Given the description of an element on the screen output the (x, y) to click on. 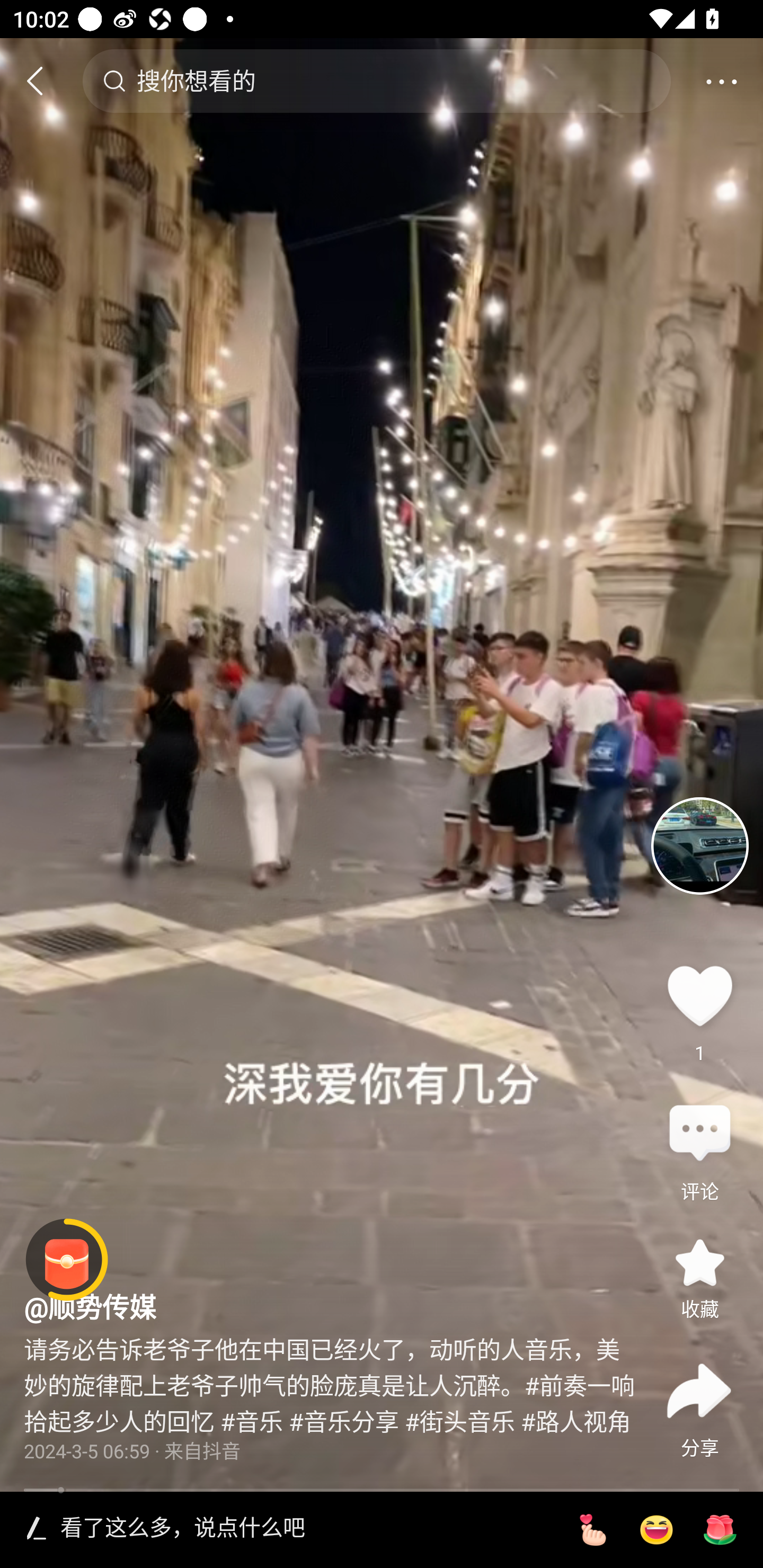
搜你想看的 搜索框，搜你想看的 (376, 80)
返回 (43, 80)
更多操作 (720, 80)
头像 (699, 845)
点赞1 1 (699, 995)
评论 评论 评论 (699, 1134)
收藏 (699, 1262)
阅读赚金币 (66, 1259)
分享 (699, 1390)
看了这么多，说点什么吧 (305, 1529)
[比心] (592, 1530)
[大笑] (656, 1530)
[玫瑰] (719, 1530)
